Given the description of an element on the screen output the (x, y) to click on. 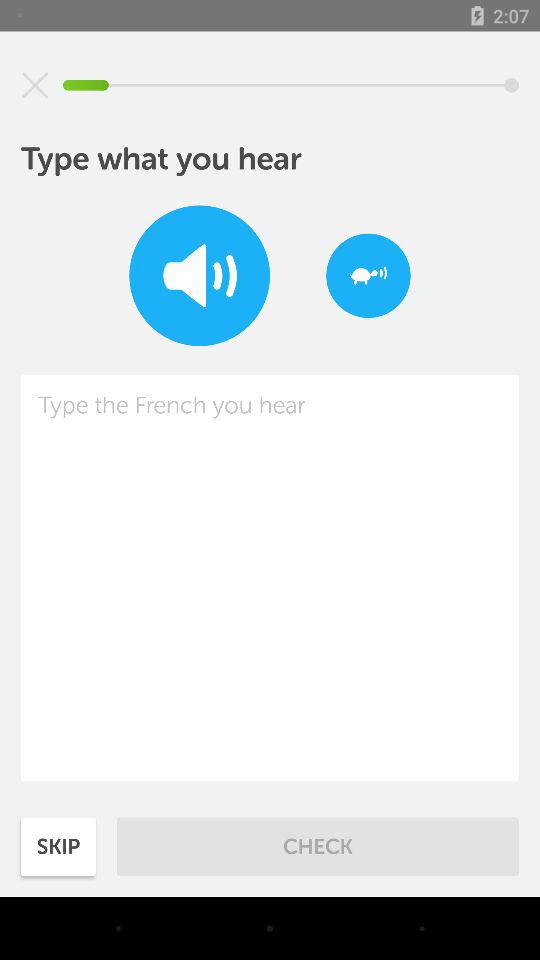
press check item (318, 846)
